Given the description of an element on the screen output the (x, y) to click on. 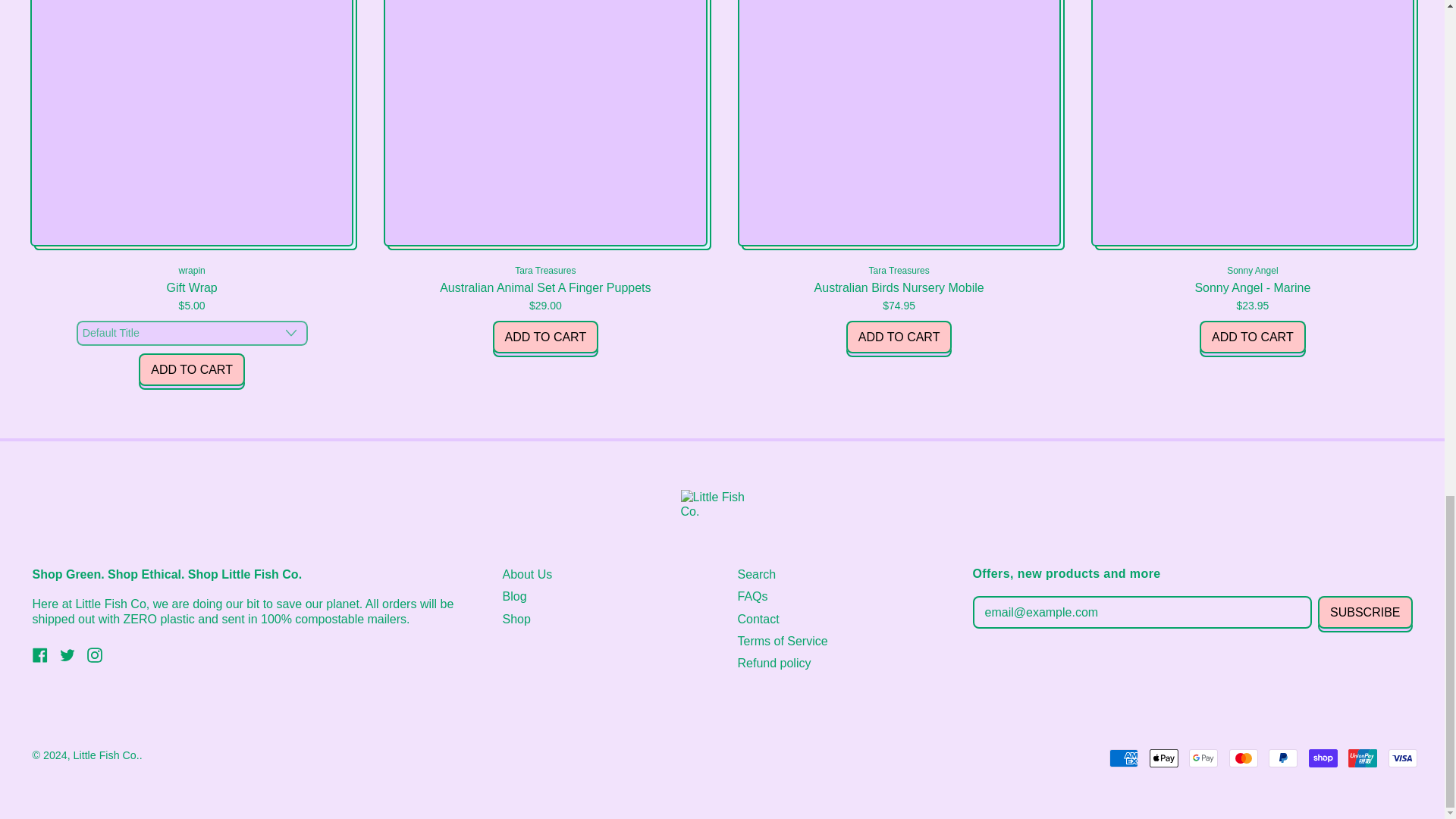
Search (756, 574)
Contact (757, 618)
Australian Animal Set A Finger Puppets (545, 178)
About Us (526, 574)
Facebook (191, 368)
Twitter (39, 658)
FAQs (66, 658)
Blog (545, 336)
